Given the description of an element on the screen output the (x, y) to click on. 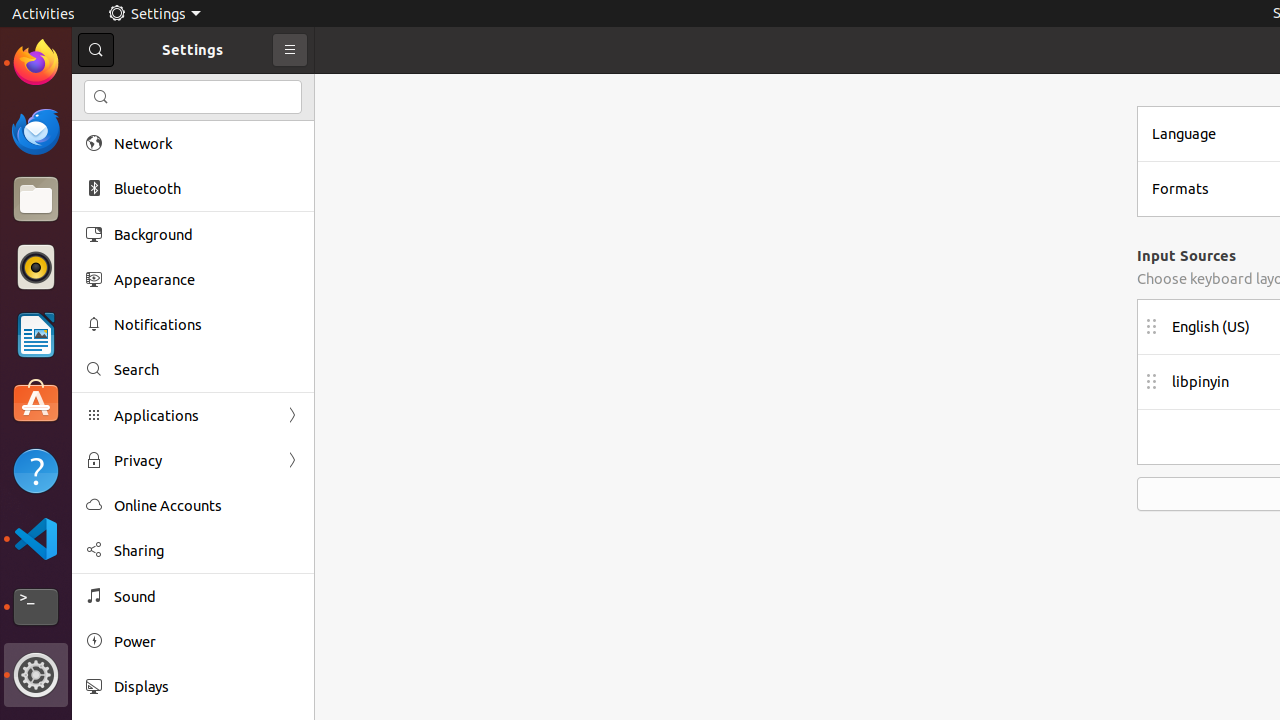
Appearance Element type: label (207, 279)
